Given the description of an element on the screen output the (x, y) to click on. 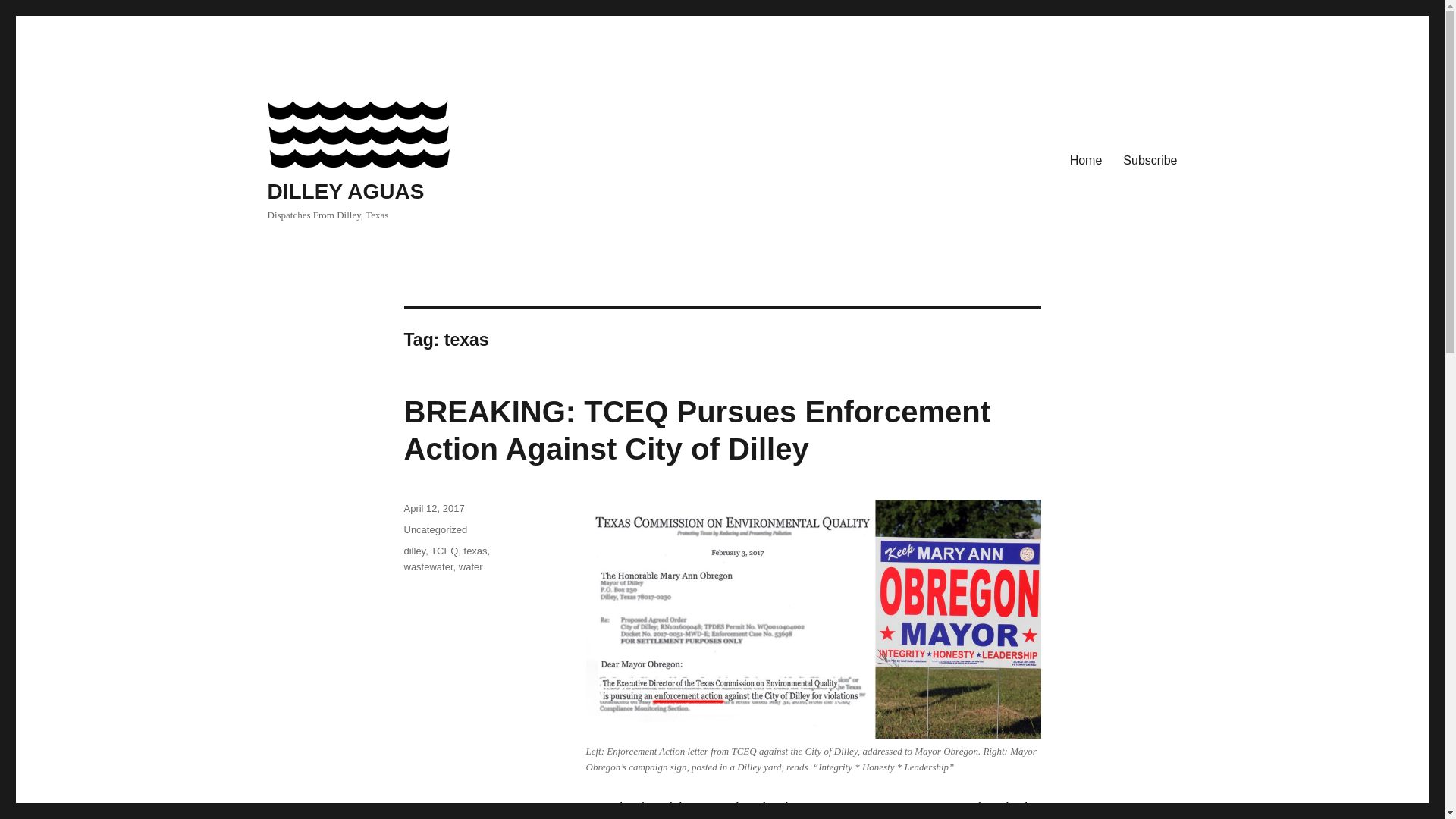
wastewater (427, 566)
April 12, 2017 (433, 508)
DILLEY AGUAS (344, 191)
Home (1086, 160)
Uncategorized (435, 529)
dilley (414, 550)
water (470, 566)
Subscribe (1150, 160)
TCEQ (444, 550)
texas (475, 550)
